Given the description of an element on the screen output the (x, y) to click on. 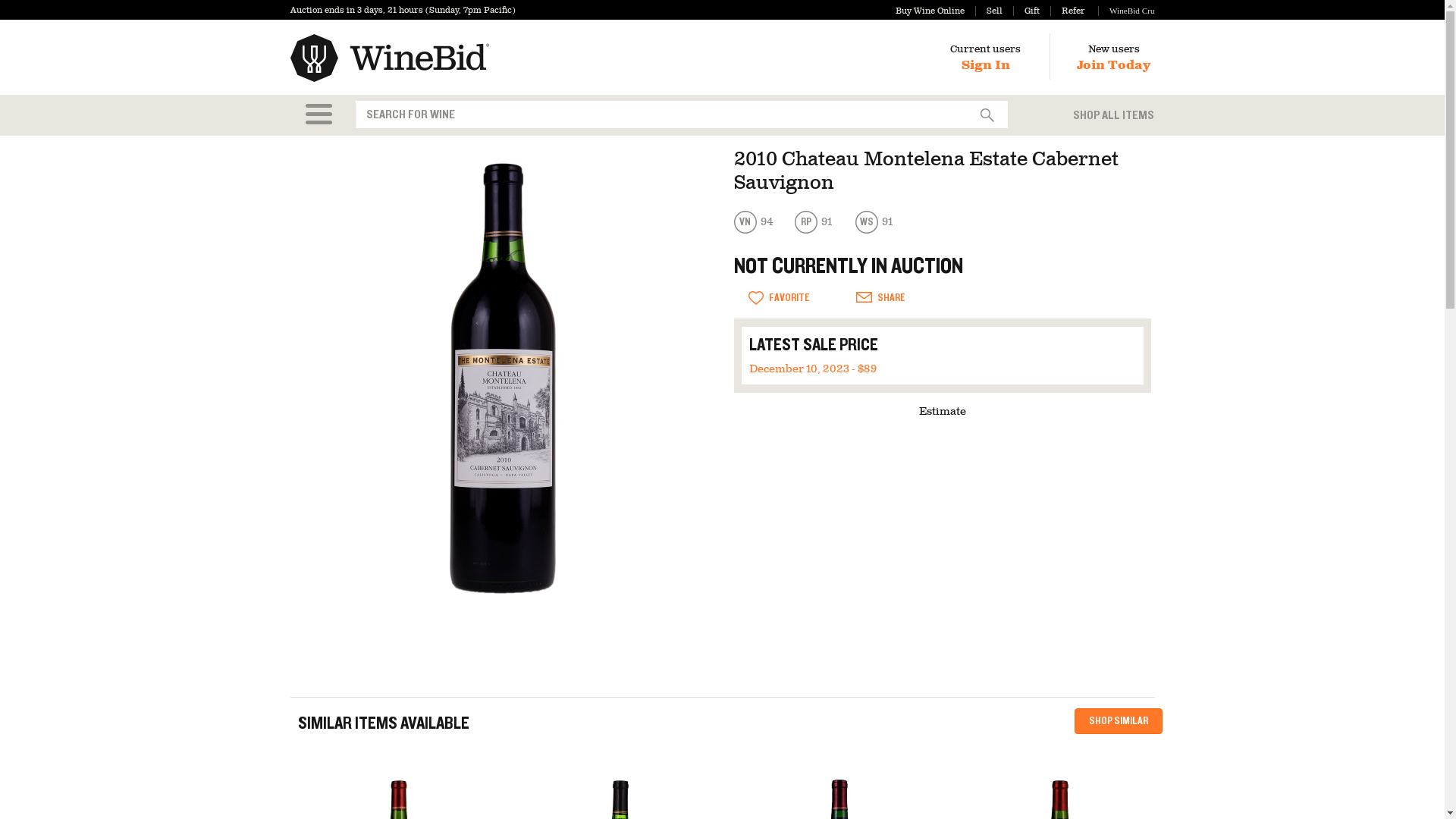
Buy Wine Online (929, 10)
Sell (989, 10)
Sign In (985, 64)
Gift (1026, 10)
Join Today (1113, 64)
Refer (1066, 10)
WineBid Cru (1125, 10)
